Given the description of an element on the screen output the (x, y) to click on. 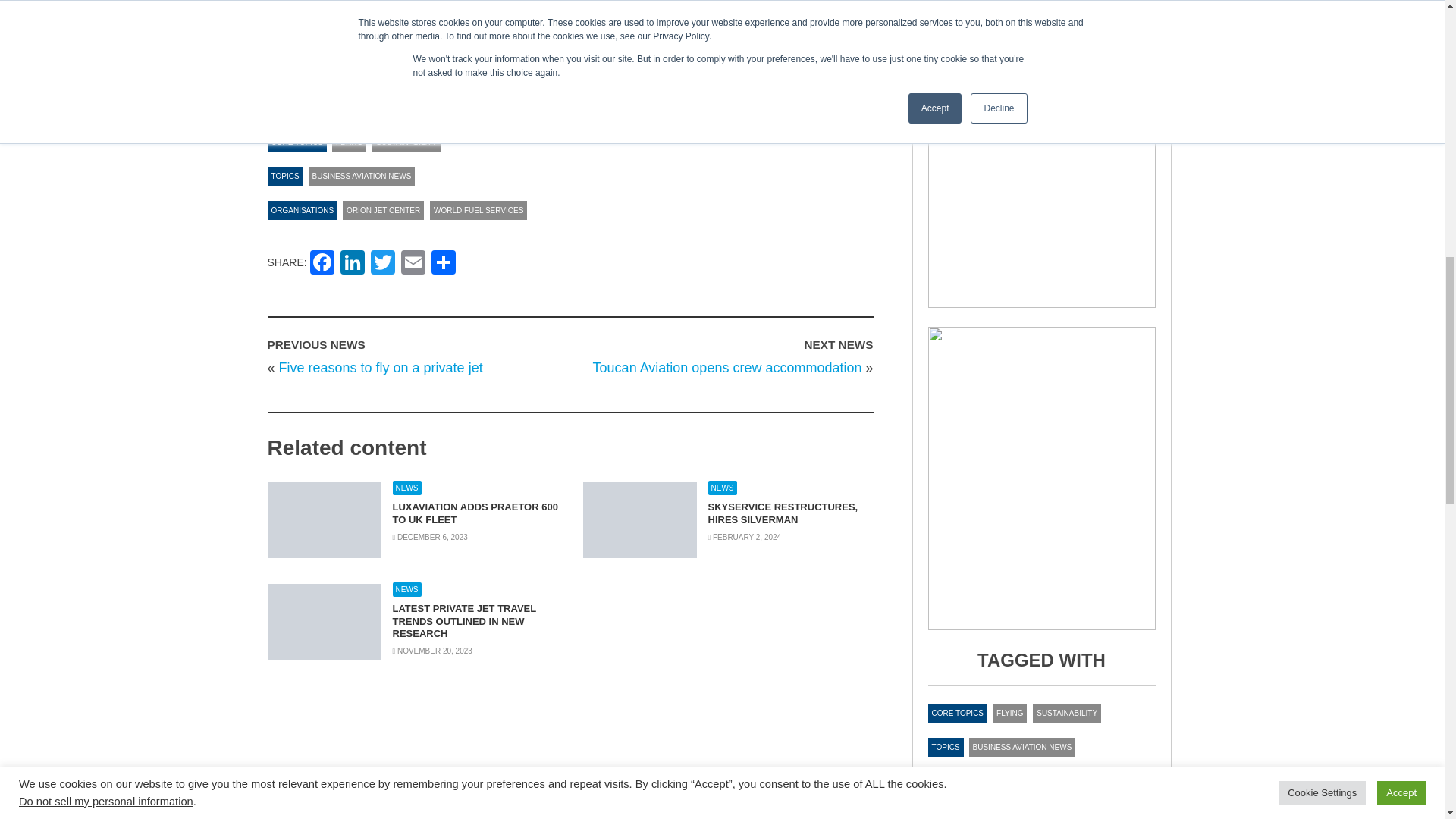
LinkedIn (352, 264)
Twitter (382, 264)
Email (412, 264)
Facebook (322, 264)
